Given the description of an element on the screen output the (x, y) to click on. 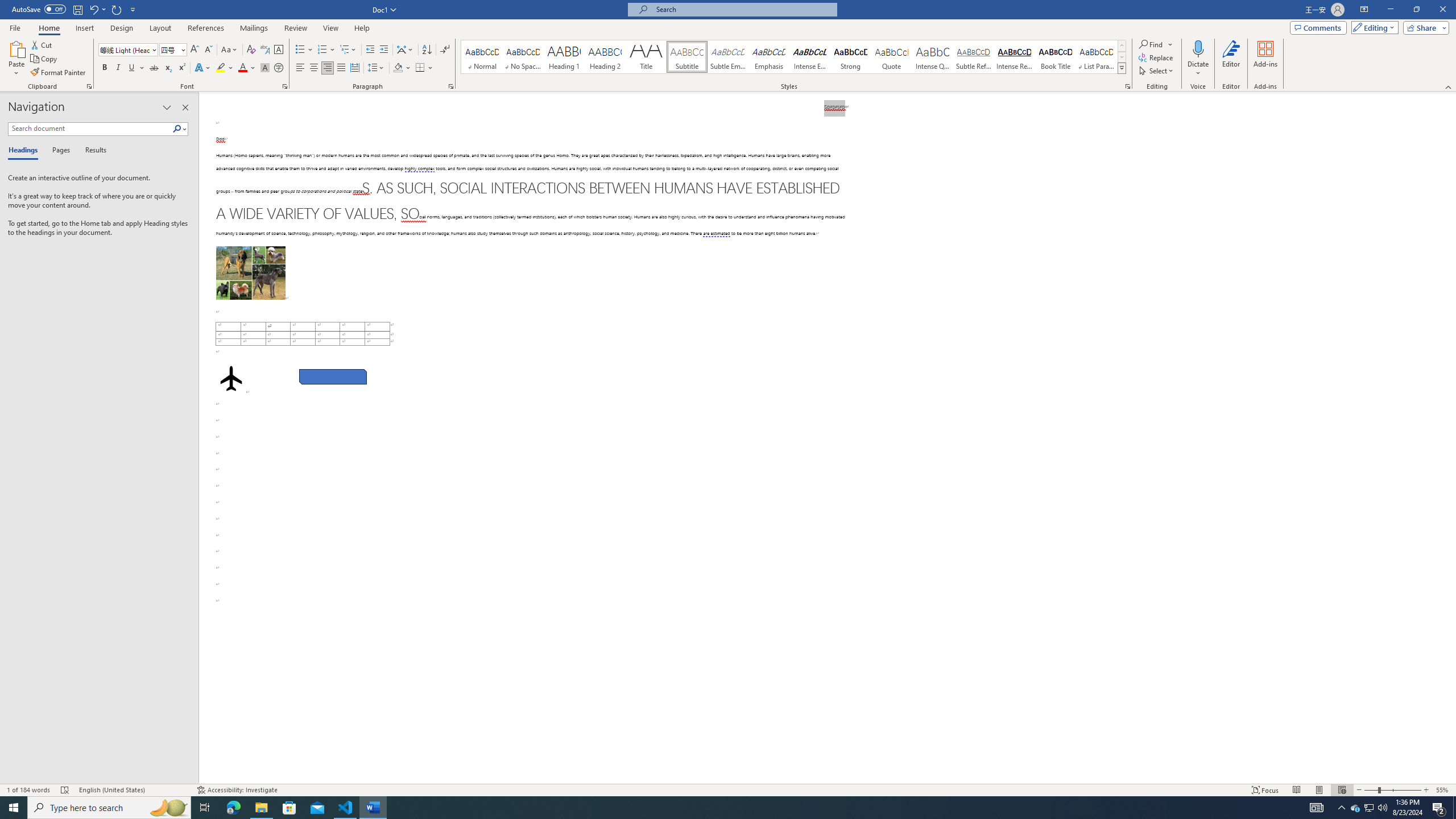
Multilevel List (347, 49)
Results (91, 150)
Copy (45, 58)
Home (48, 28)
Bullets (304, 49)
Character Shading (264, 67)
Dictate (1197, 48)
Shading (402, 67)
Zoom Out (1370, 790)
Line and Paragraph Spacing (376, 67)
Font (124, 49)
Morphological variation in six dogs (250, 272)
Insert (83, 28)
Show/Hide Editing Marks (444, 49)
Change Case (229, 49)
